Given the description of an element on the screen output the (x, y) to click on. 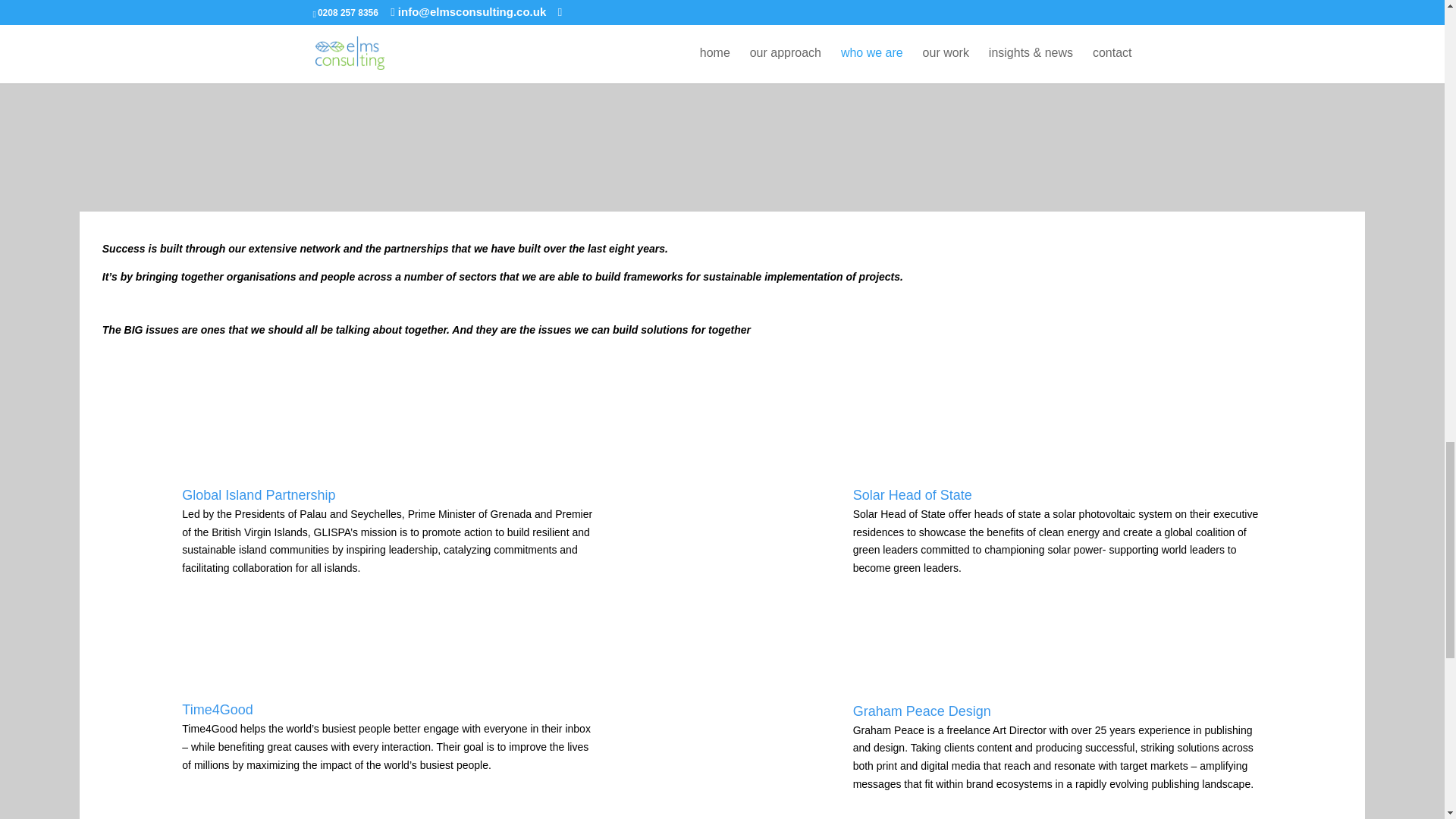
Time4Good (216, 709)
Solar Head of State (912, 494)
Graham Peace Design (922, 711)
Global Island Partnership (258, 494)
